Given the description of an element on the screen output the (x, y) to click on. 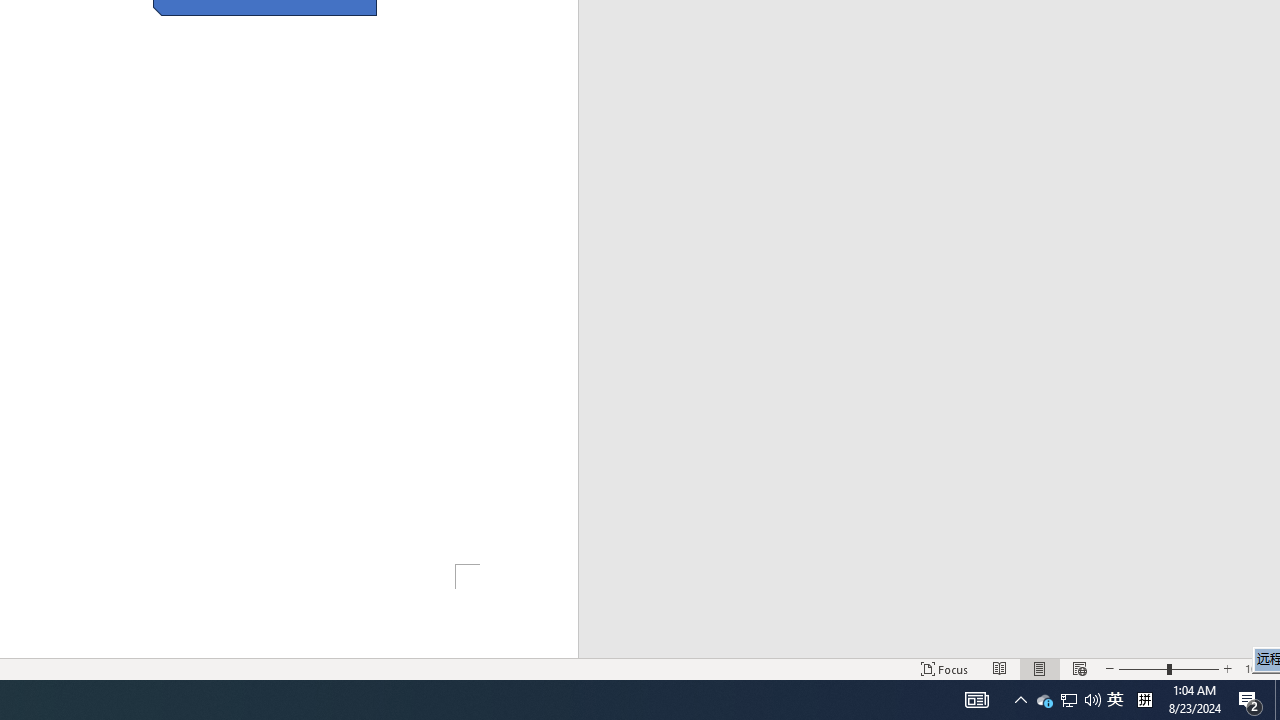
Zoom 104% (1258, 668)
Tray Input Indicator - Chinese (Simplified, China) (1144, 699)
